Given the description of an element on the screen output the (x, y) to click on. 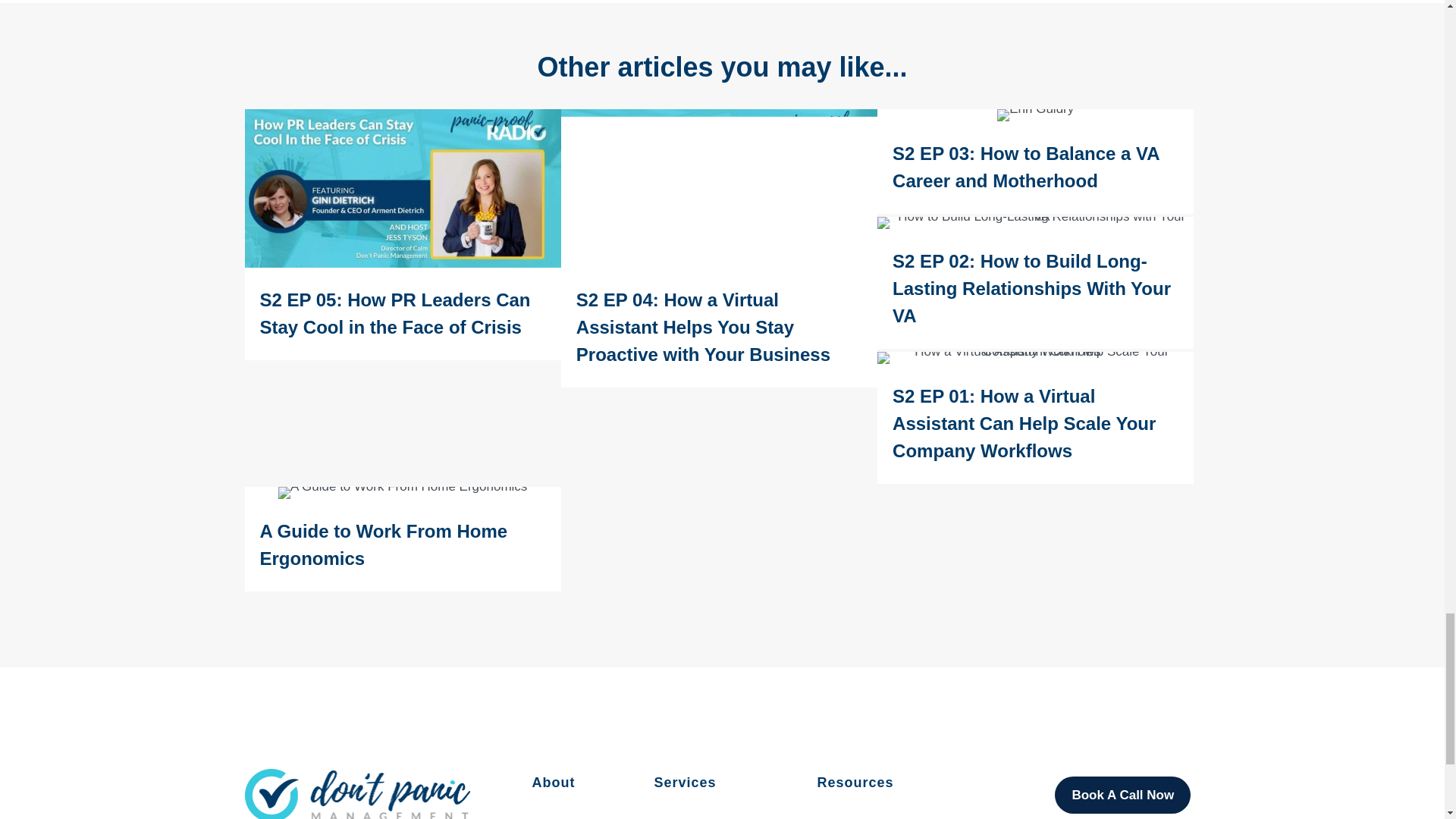
S2 EP 03: How to Balance a VA Career and Motherhood (1035, 160)
Gini Dietrich Rectangle (402, 187)
Erin Guidry Rectangle (1035, 114)
S2 EP 05: How PR Leaders Can Stay Cool in the Face of Crisis (402, 234)
A Guide to Work From Home Ergonomics (402, 538)
How to Build Long-Lasting Relationships with Your VA (1035, 223)
Nick Puleo (718, 187)
